Given the description of an element on the screen output the (x, y) to click on. 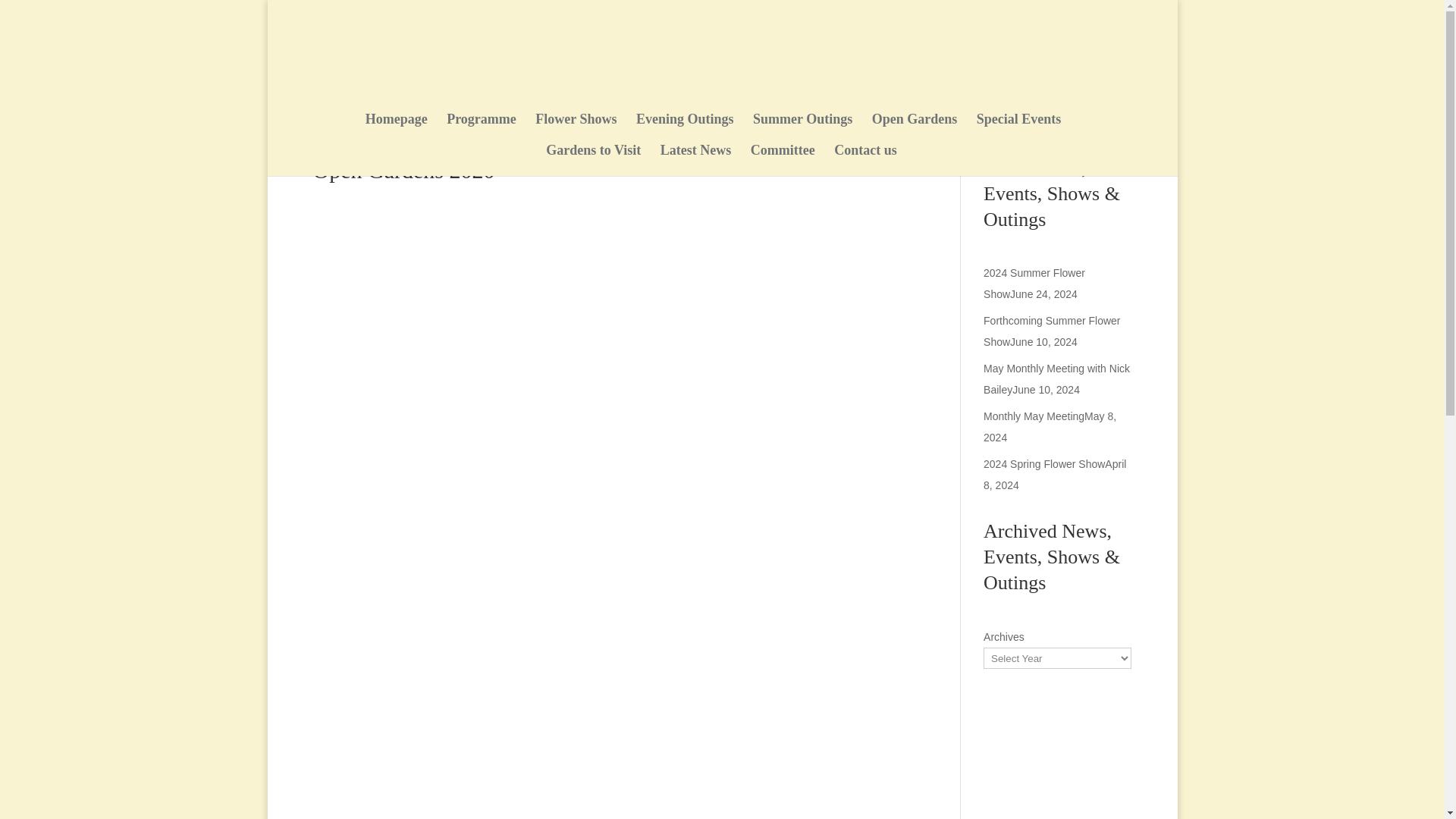
Contact us (865, 160)
Special Events (1018, 128)
Latest News (695, 160)
Evening Outings (684, 128)
Homepage (396, 128)
Summer Outings (801, 128)
Programme (481, 128)
Gardens to Visit (593, 160)
Committee (783, 160)
Open Gardens (915, 128)
